Given the description of an element on the screen output the (x, y) to click on. 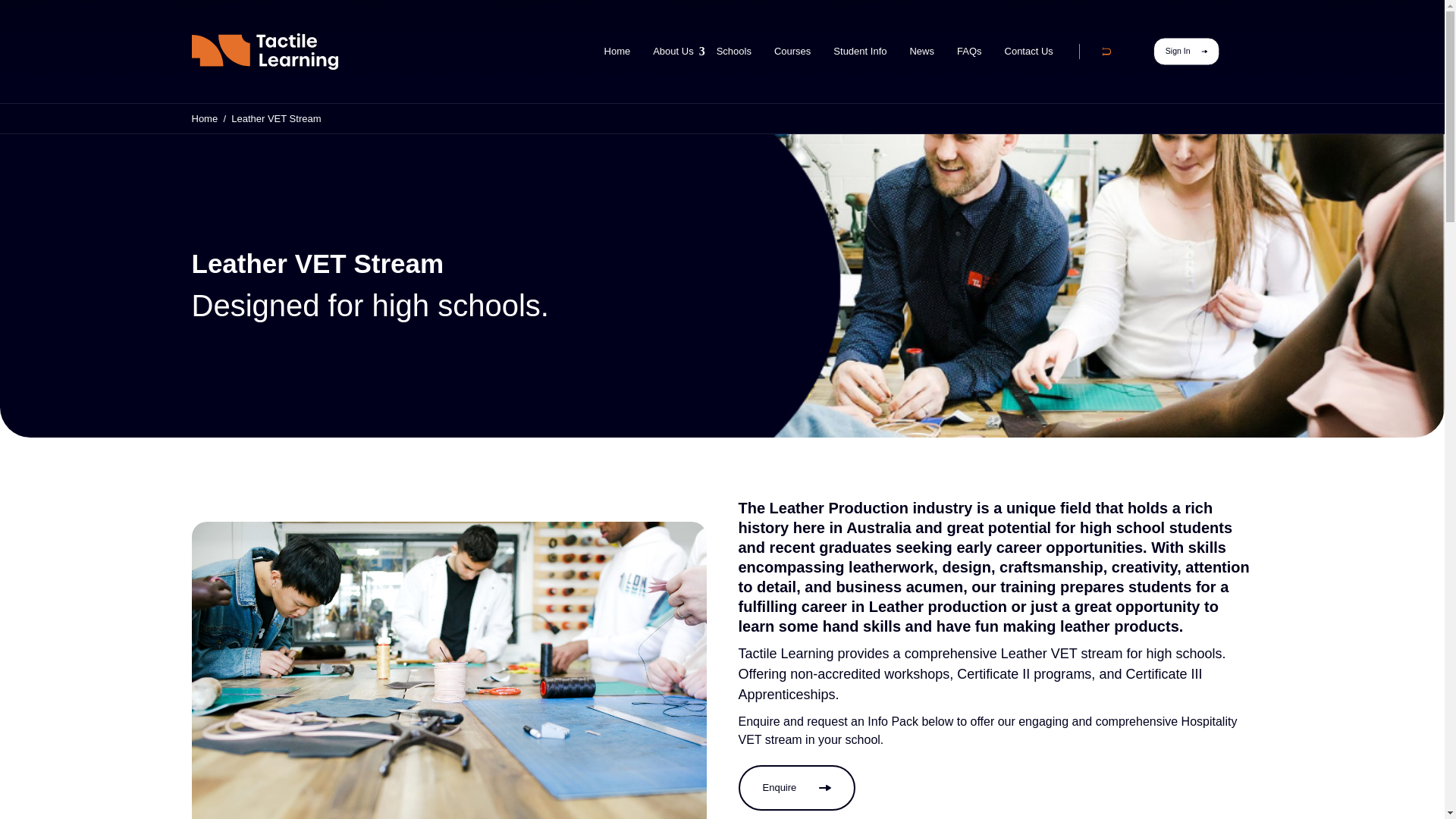
News (921, 51)
About Us (673, 51)
Schools (733, 51)
Student Info (860, 51)
Sign In (1219, 64)
Home (617, 51)
FAQs (968, 51)
Contact Us (1028, 51)
Courses (792, 51)
